Given the description of an element on the screen output the (x, y) to click on. 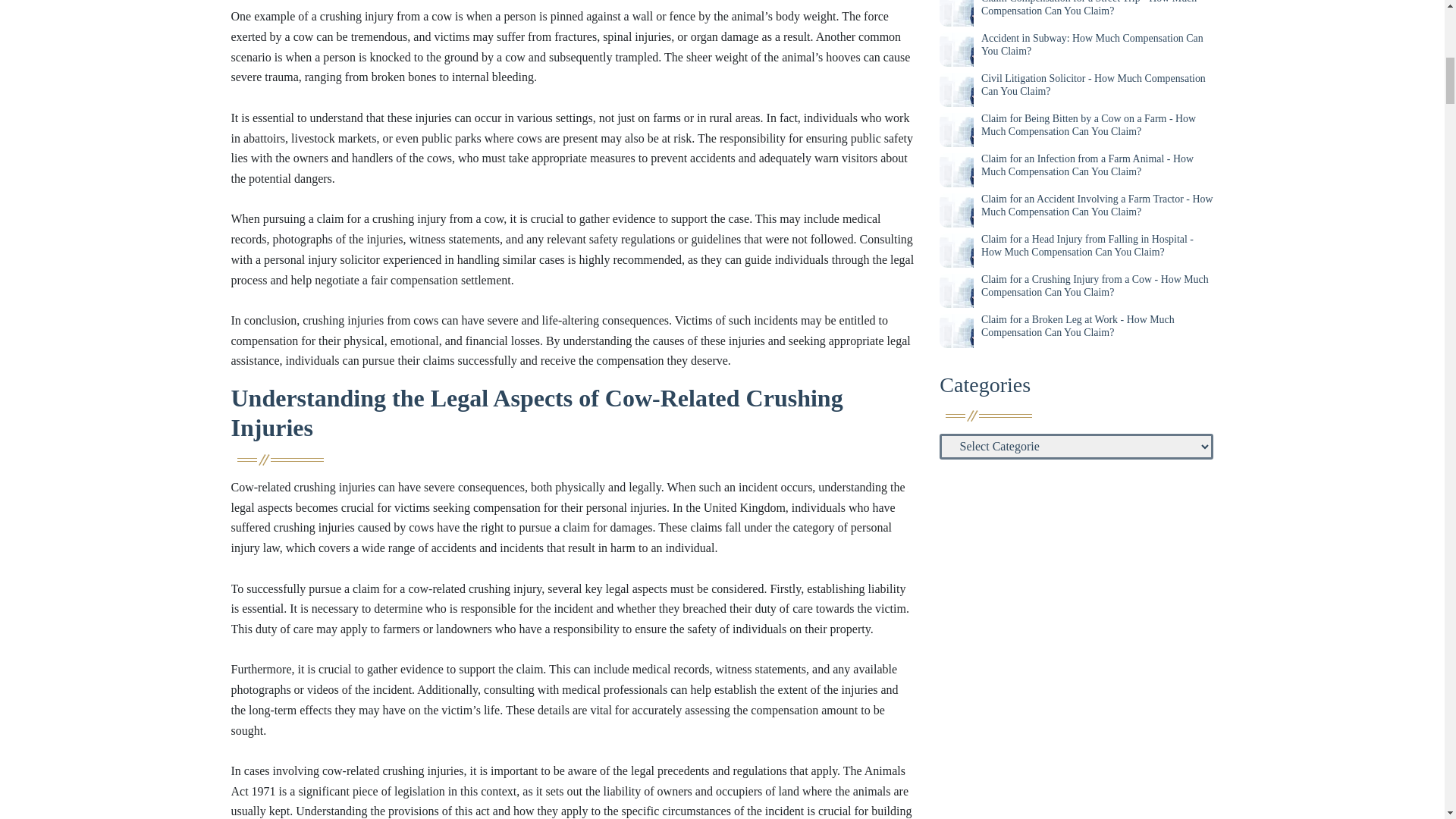
Default Blog Image (956, 49)
Default Blog Image (956, 13)
